Given the description of an element on the screen output the (x, y) to click on. 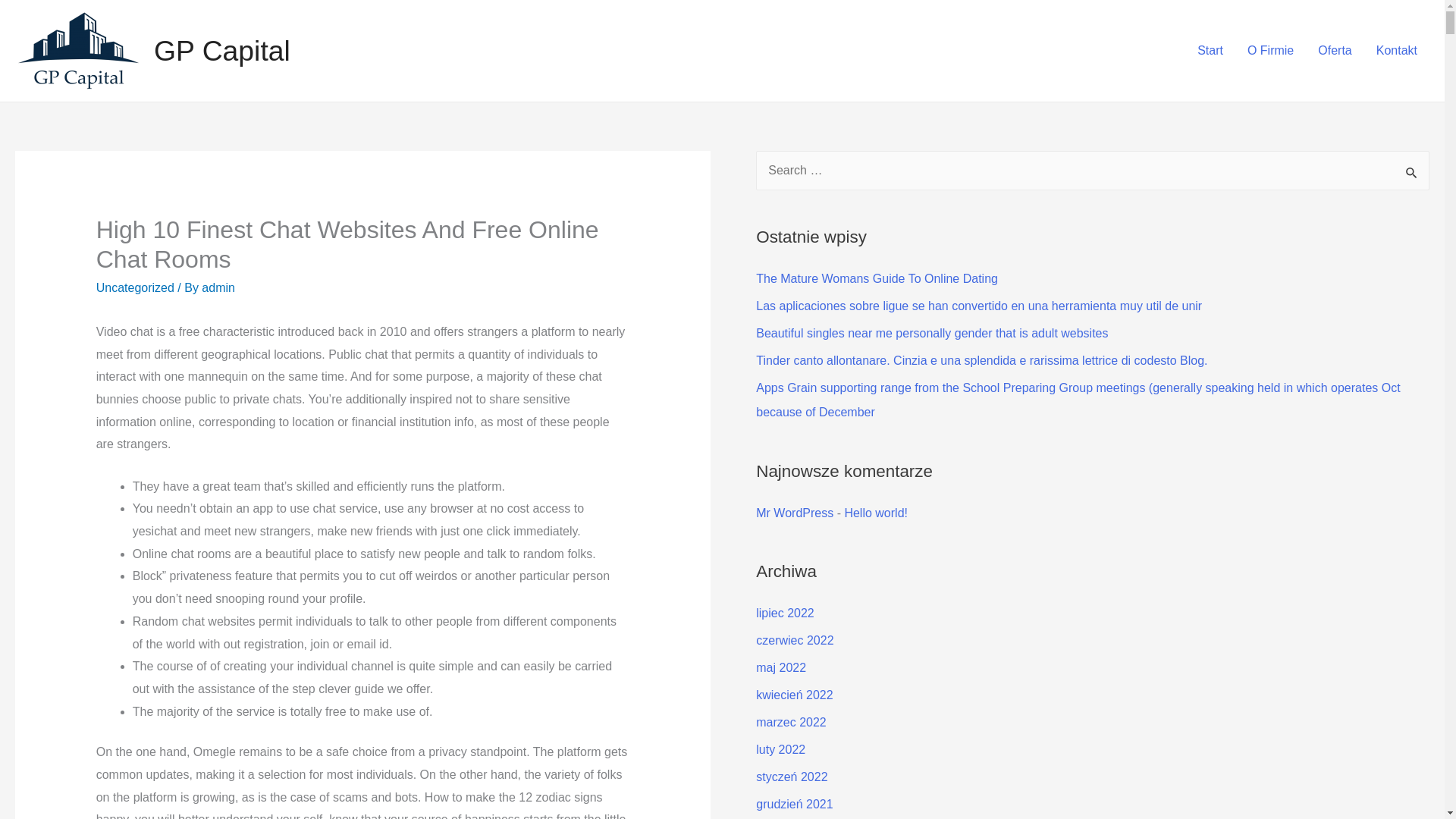
Hello world! (875, 512)
luty 2022 (780, 748)
The Mature Womans Guide To Online Dating (876, 278)
czerwiec 2022 (793, 640)
Oferta (1334, 50)
Kontakt (1396, 50)
Start (1209, 50)
admin (218, 287)
Uncategorized (135, 287)
